Given the description of an element on the screen output the (x, y) to click on. 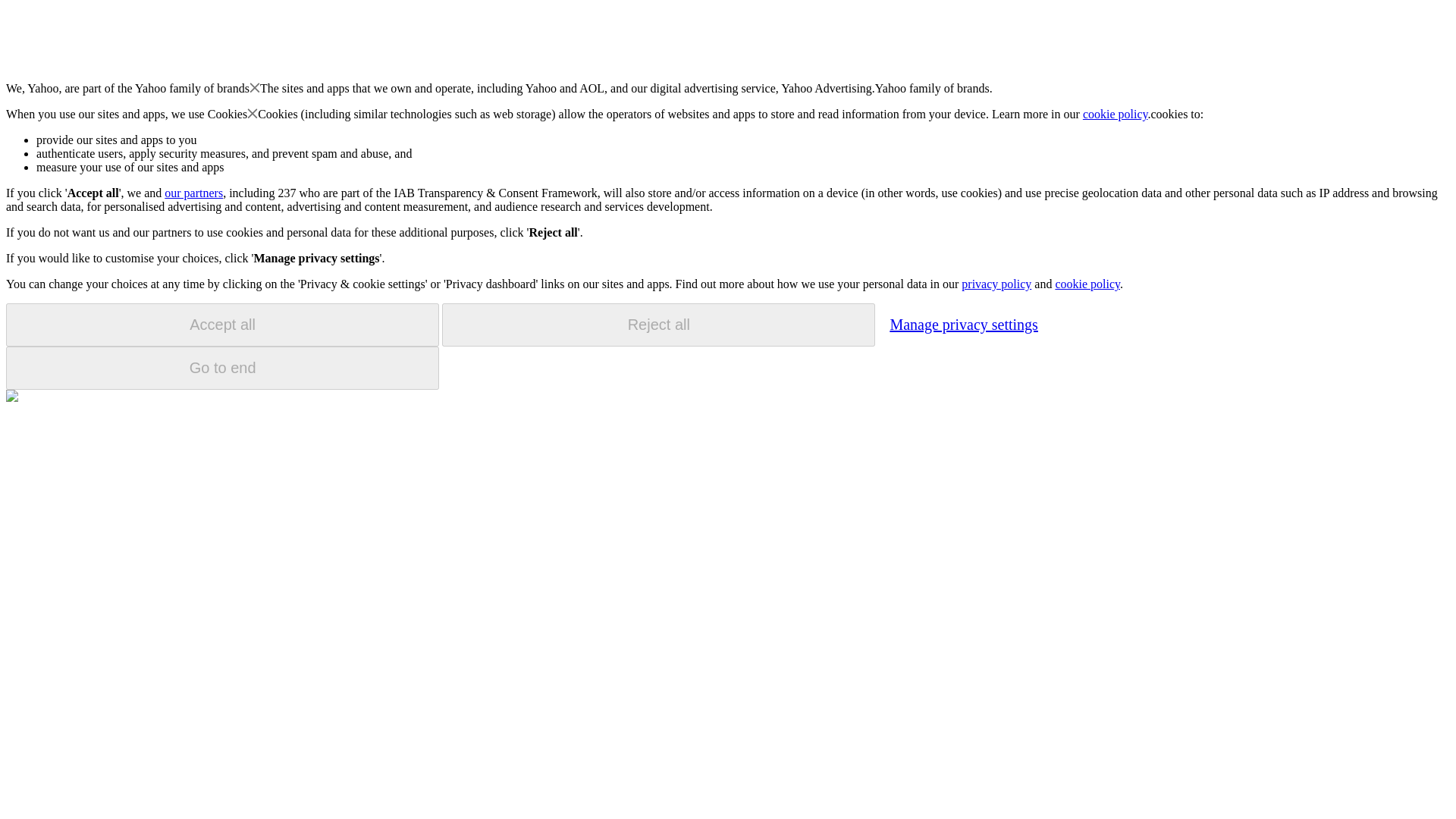
Manage privacy settings (963, 323)
Reject all (658, 324)
our partners (193, 192)
cookie policy (1086, 283)
Accept all (222, 324)
privacy policy (995, 283)
cookie policy (1115, 113)
Go to end (222, 367)
